Given the description of an element on the screen output the (x, y) to click on. 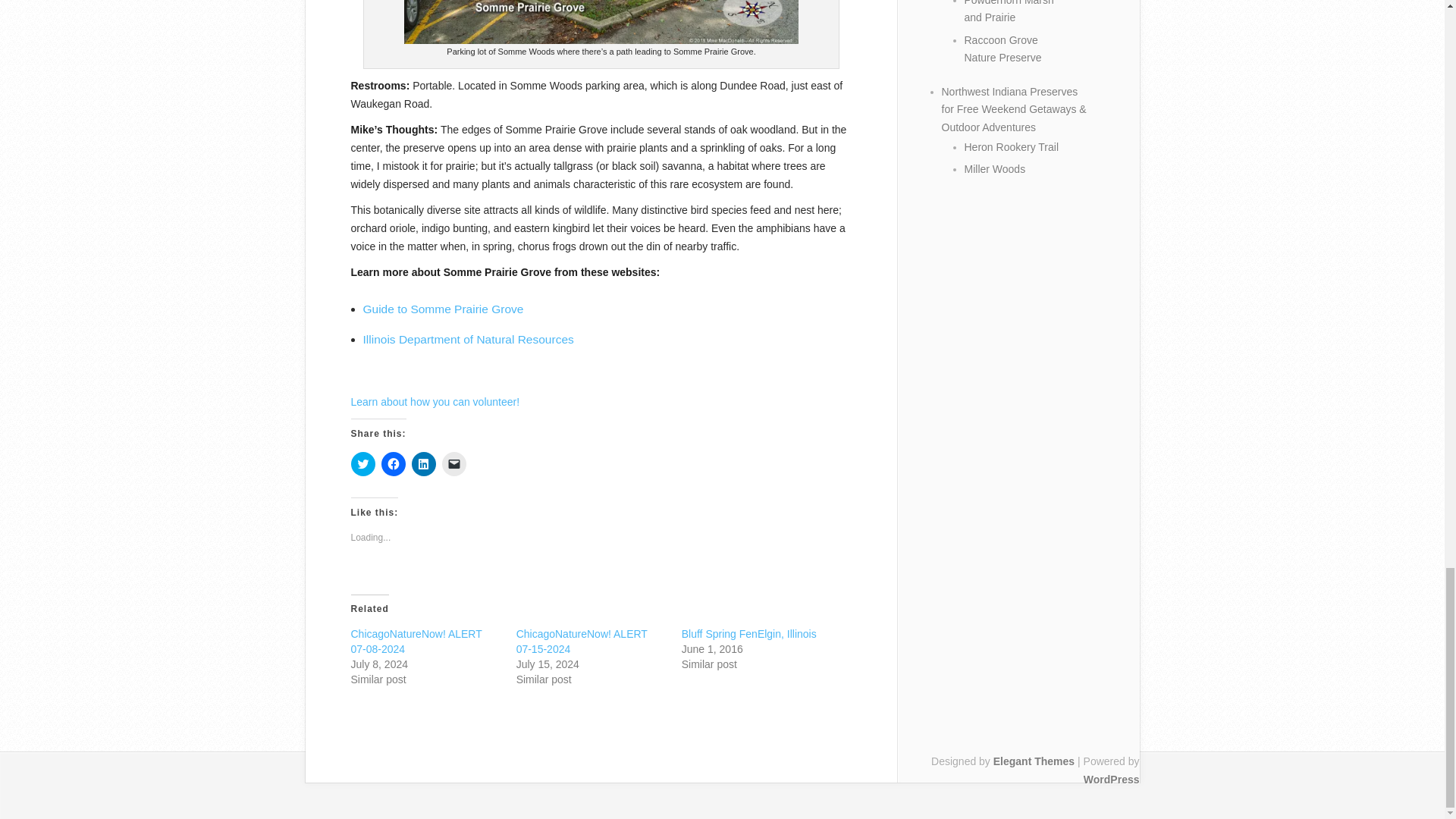
Click to share on LinkedIn (422, 463)
ChicagoNatureNow! ALERT 07-08-2024 (415, 641)
Premium WordPress Themes (1033, 761)
Click to share on Facebook (392, 463)
ChicagoNatureNow! ALERT 07-15-2024 (581, 641)
Click to email a link to a friend (453, 463)
Click to share on Twitter (362, 463)
Bluff Spring FenElgin, Illinois (748, 633)
